Given the description of an element on the screen output the (x, y) to click on. 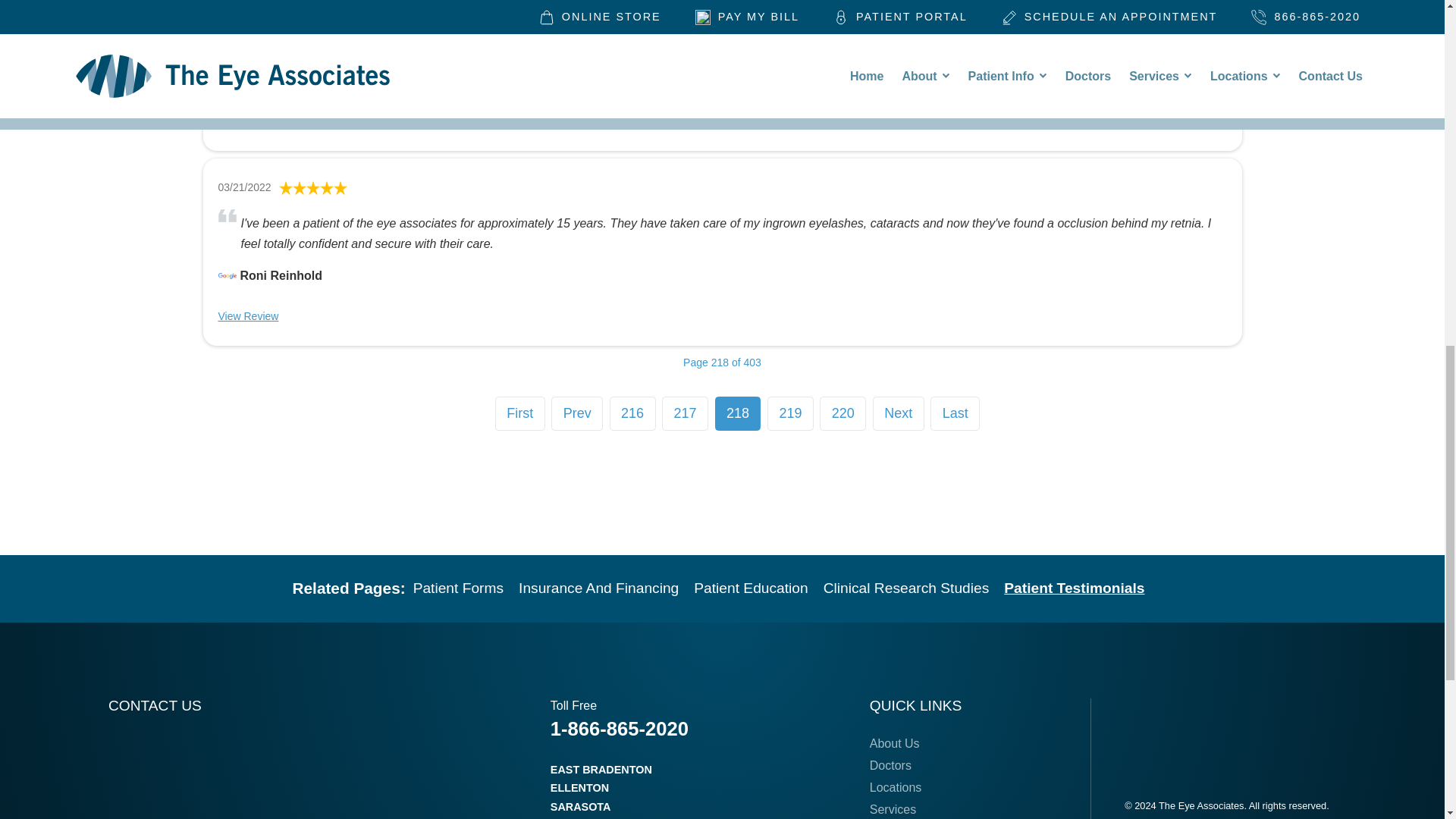
Google Business Profile (226, 275)
Clinical Research Studies (907, 587)
5 (313, 187)
Patient Education (751, 587)
Patient Forms (458, 587)
Insurance And Financing (598, 587)
Google Business Profile (226, 81)
